Given the description of an element on the screen output the (x, y) to click on. 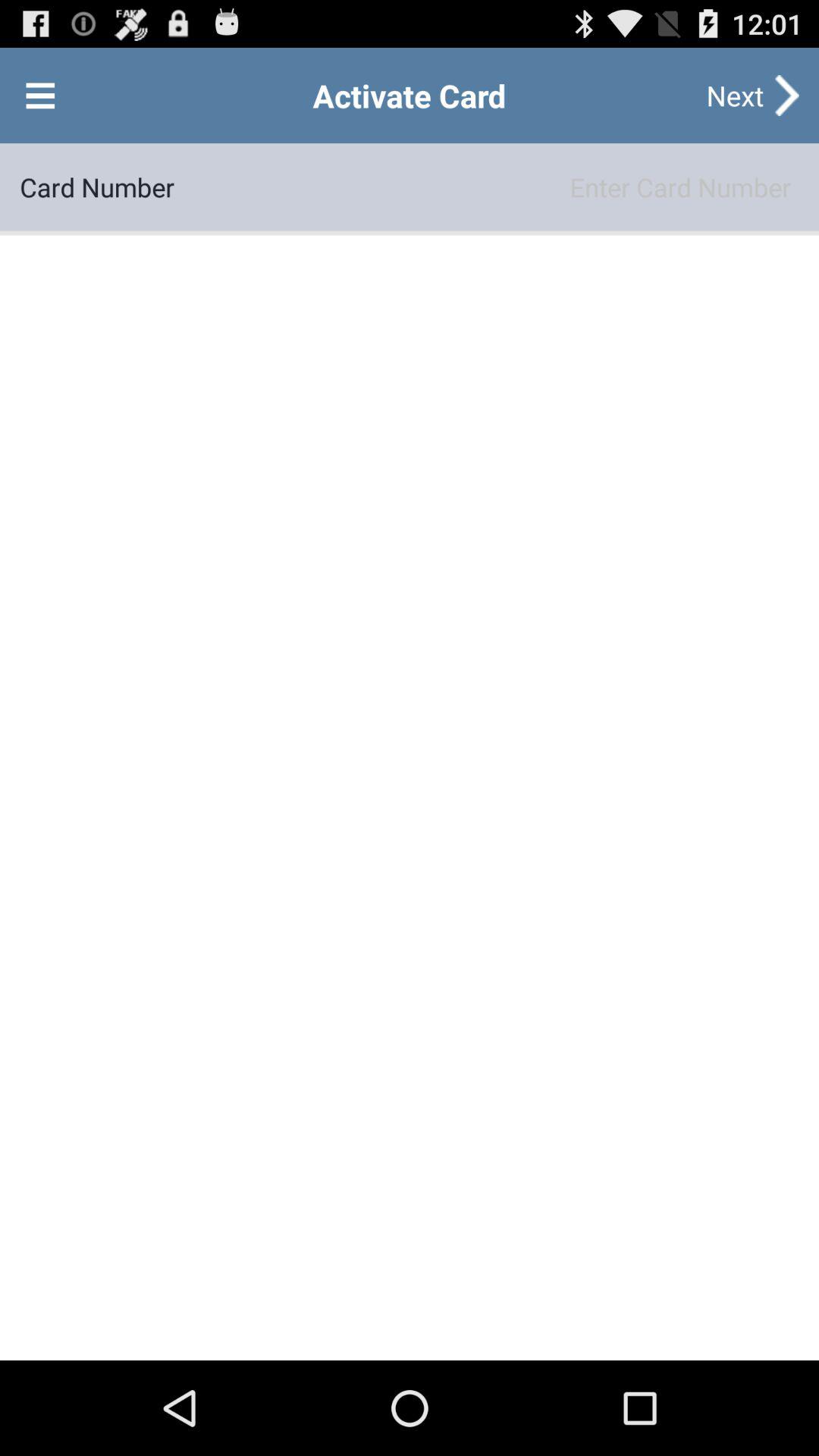
open menu (39, 95)
